Given the description of an element on the screen output the (x, y) to click on. 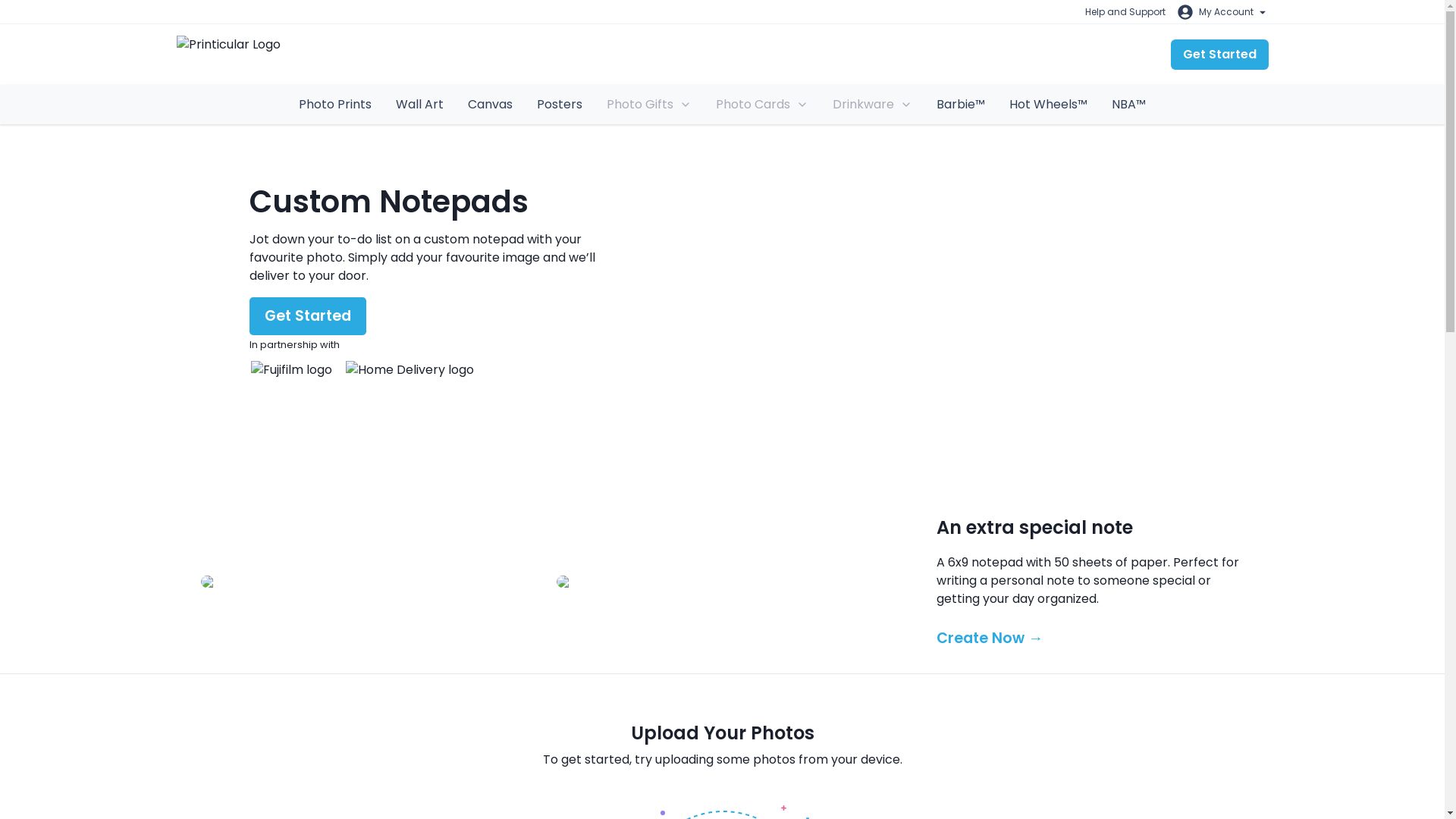
Help and Support (1124, 11)
Photo Gifts (648, 104)
My Account (1222, 11)
Canvas (489, 104)
Wall Art (419, 104)
Photo Cards (762, 104)
Photo Prints (335, 104)
Get Started (1219, 54)
Posters (559, 104)
Drinkware (872, 104)
